Given the description of an element on the screen output the (x, y) to click on. 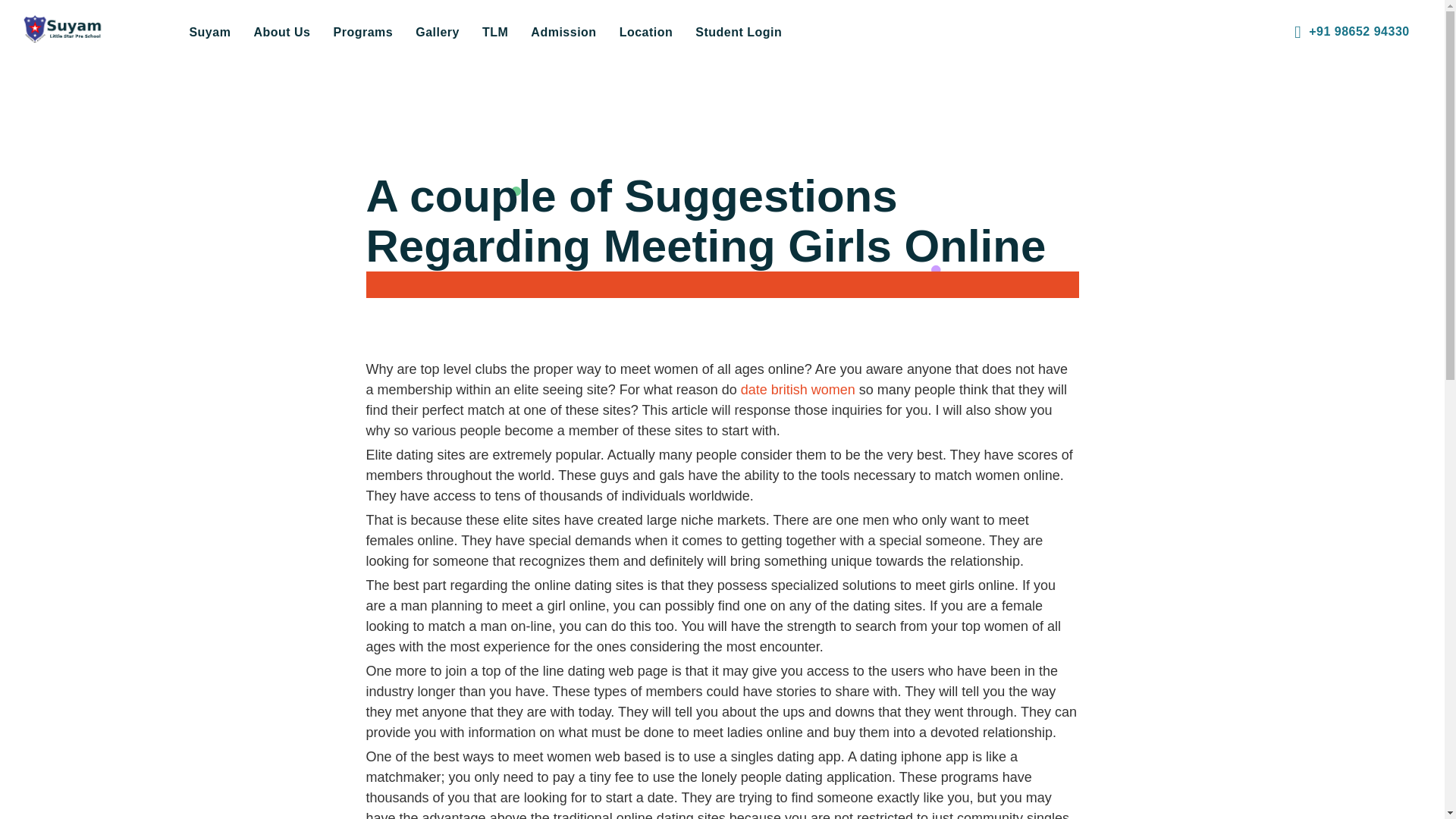
Location (646, 32)
TLM (494, 32)
Student Login (738, 32)
Gallery (437, 32)
Programs (362, 32)
Admission (563, 32)
About Us (281, 32)
Suyam (209, 32)
